Given the description of an element on the screen output the (x, y) to click on. 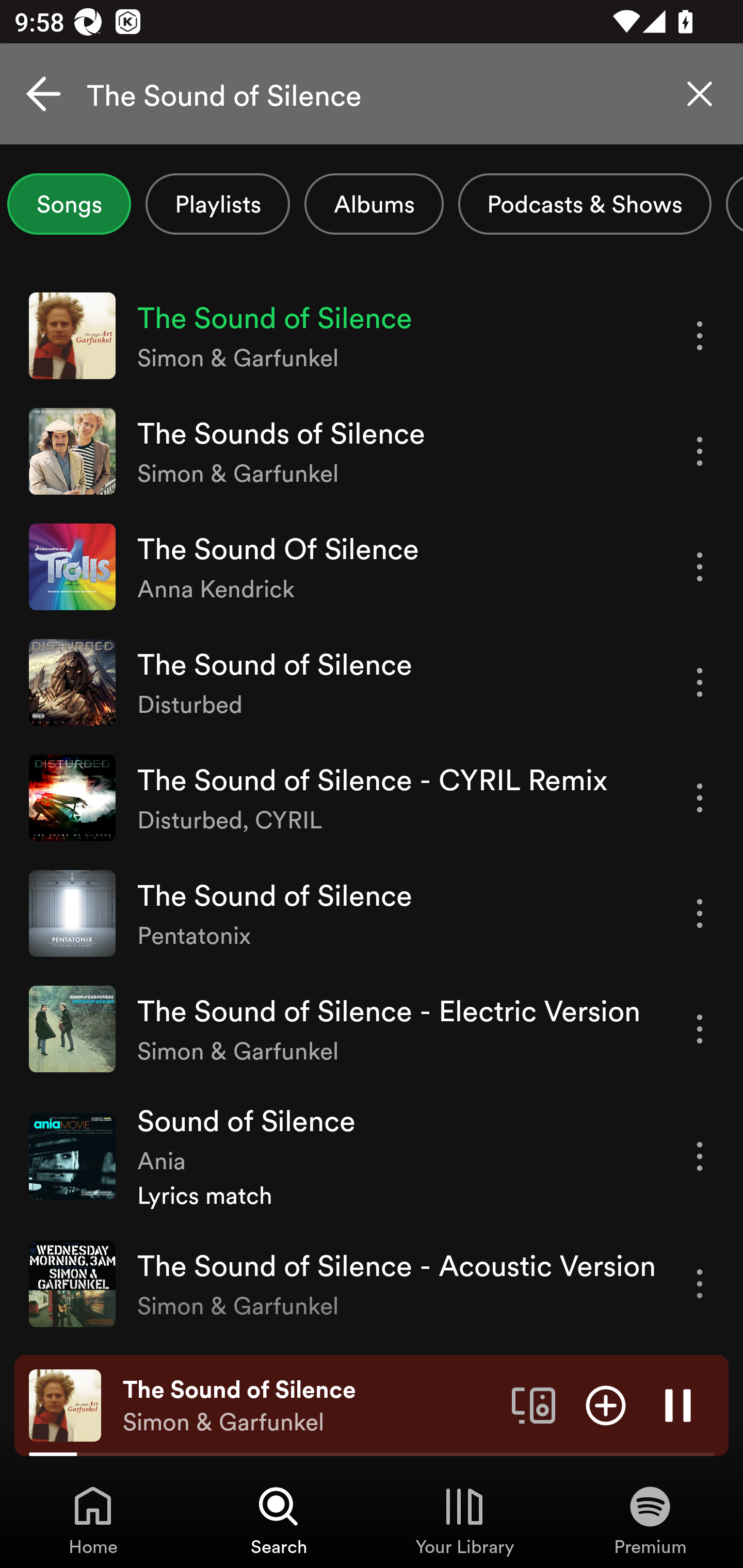
The Sound of Silence (371, 93)
Cancel (43, 93)
Clear search query (699, 93)
Songs (68, 203)
Playlists (217, 203)
Albums (373, 203)
Podcasts & Shows (584, 203)
More options for song The Sound of Silence (699, 336)
More options for song The Sounds of Silence (699, 450)
More options for song The Sound Of Silence (699, 566)
More options for song The Sound of Silence (699, 682)
More options for song The Sound of Silence (699, 913)
More options for song Sound of Silence (699, 1156)
The Sound of Silence Simon & Garfunkel (309, 1405)
The cover art of the currently playing track (64, 1404)
Connect to a device. Opens the devices menu (533, 1404)
Add item (605, 1404)
Pause (677, 1404)
Home, Tab 1 of 4 Home Home (92, 1519)
Search, Tab 2 of 4 Search Search (278, 1519)
Your Library, Tab 3 of 4 Your Library Your Library (464, 1519)
Premium, Tab 4 of 4 Premium Premium (650, 1519)
